Given the description of an element on the screen output the (x, y) to click on. 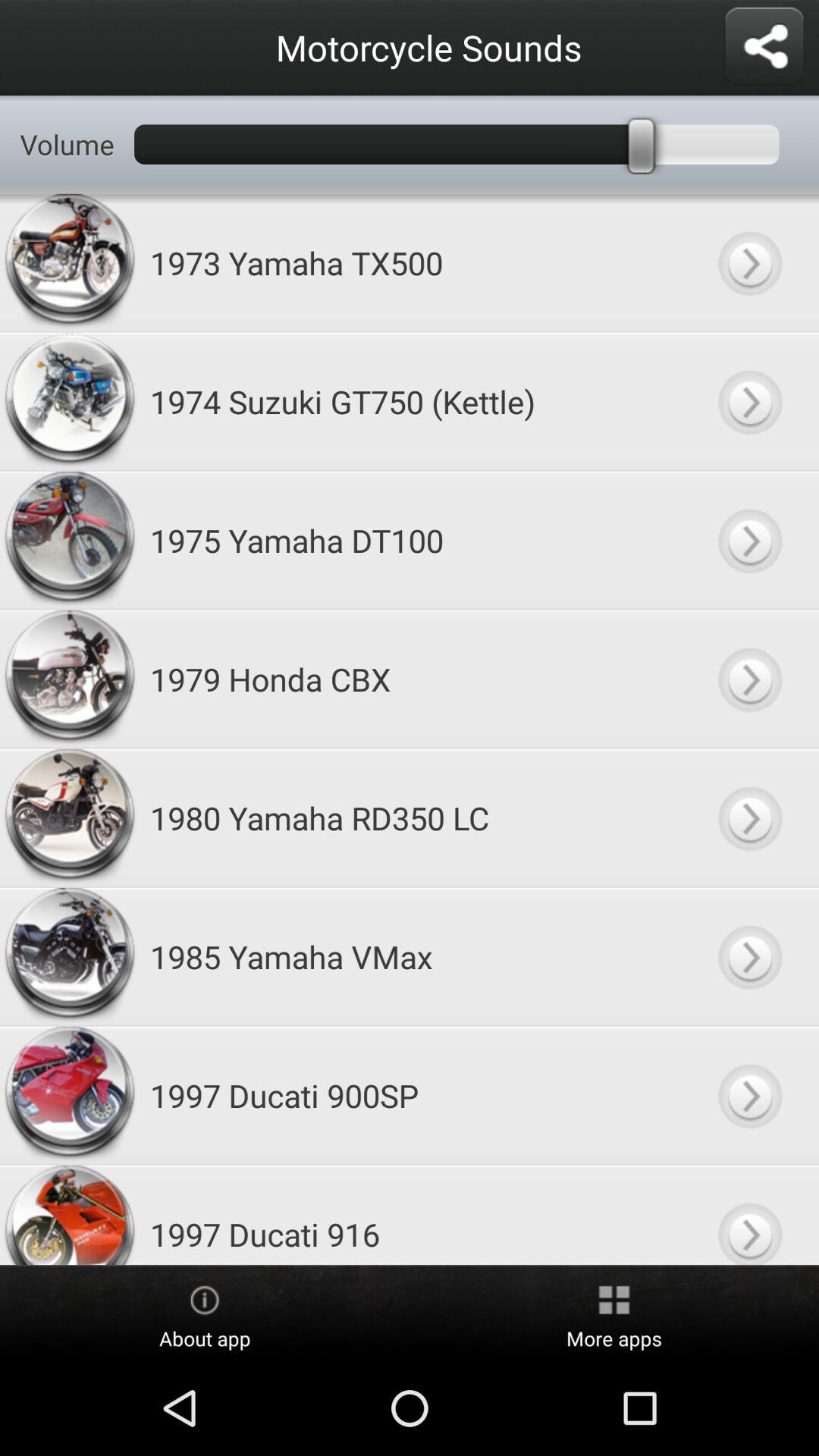
click to learn more (749, 679)
